Given the description of an element on the screen output the (x, y) to click on. 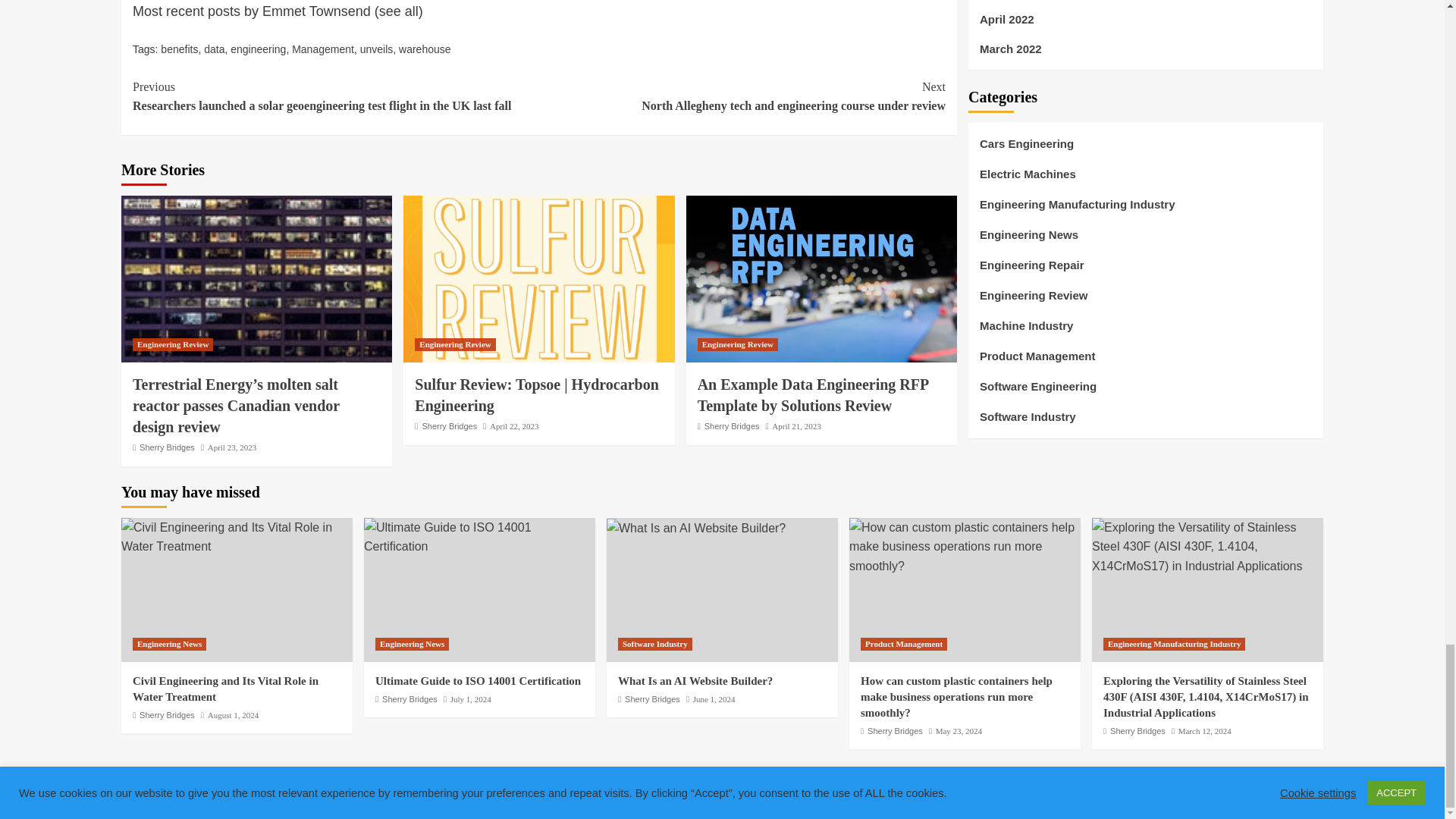
What Is an AI Website Builder? (696, 528)
Sherry Bridges (449, 425)
warehouse (424, 49)
Ultimate Guide to ISO 14001 Certification (479, 536)
unveils (376, 49)
Engineering Review (454, 344)
An Example Data Engineering RFP Template by Solutions Review (820, 278)
Civil Engineering and Its Vital Role in Water Treatment (236, 536)
